Given the description of an element on the screen output the (x, y) to click on. 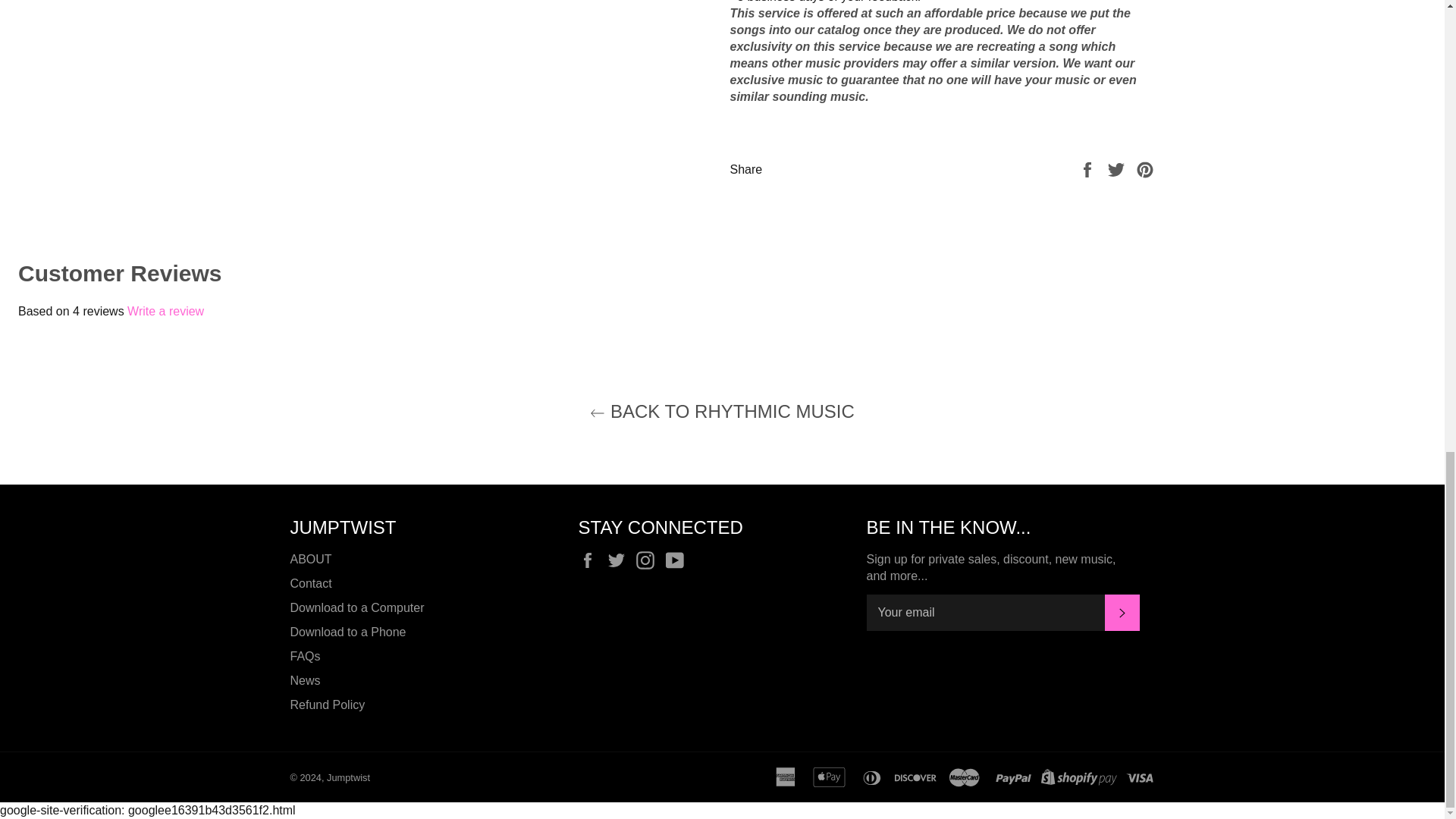
Tweet on Twitter (1117, 169)
Pin on Pinterest (1144, 169)
Jumptwist  on Instagram (649, 560)
Share on Facebook (1088, 169)
Jumptwist  on Facebook (591, 560)
Jumptwist  on Twitter (620, 560)
Jumptwist  on YouTube (678, 560)
